Given the description of an element on the screen output the (x, y) to click on. 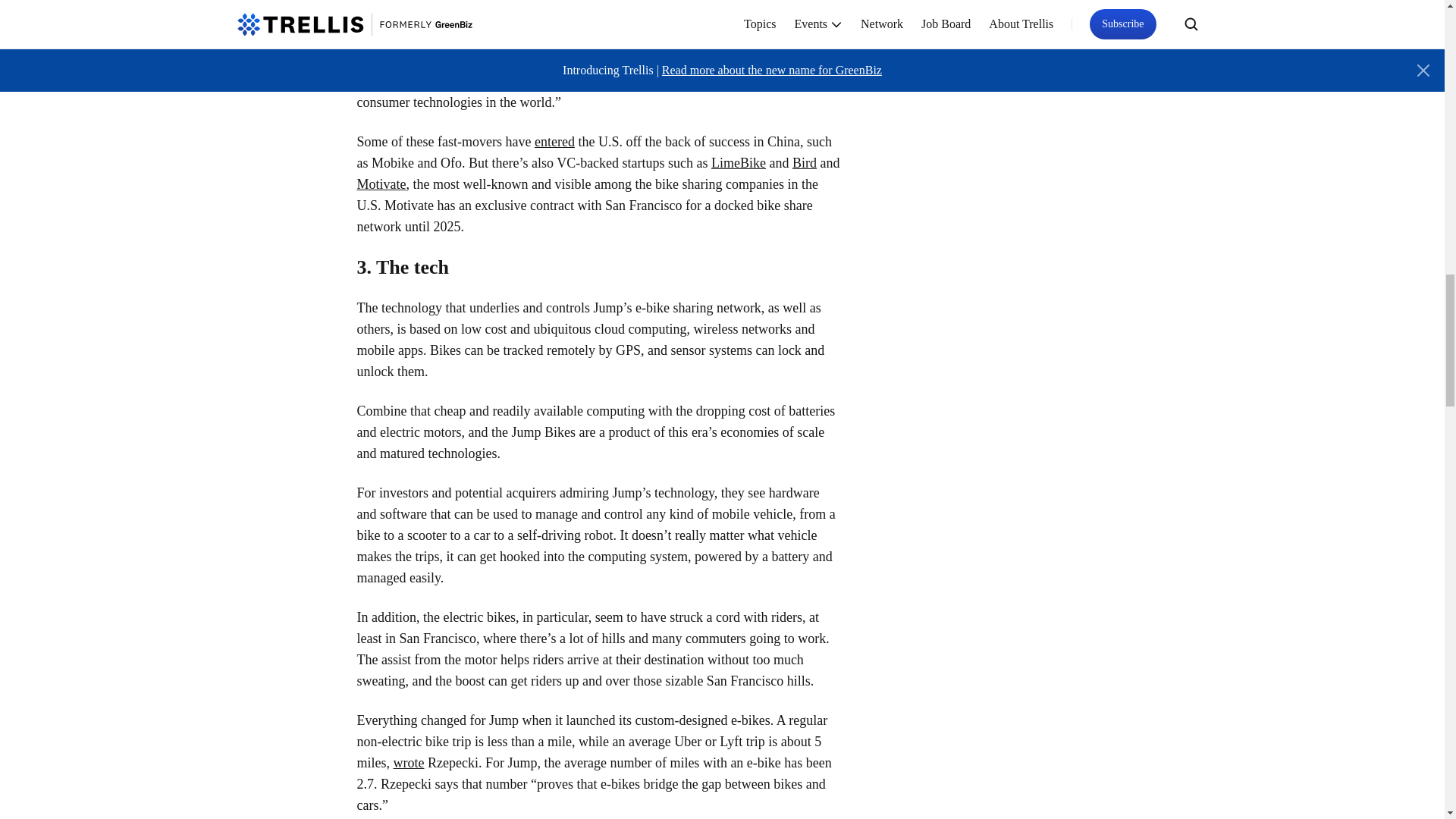
LimeBike (738, 161)
Bird (804, 161)
Motivate (381, 183)
entered (554, 140)
wrote (408, 762)
blog post (381, 37)
